Given the description of an element on the screen output the (x, y) to click on. 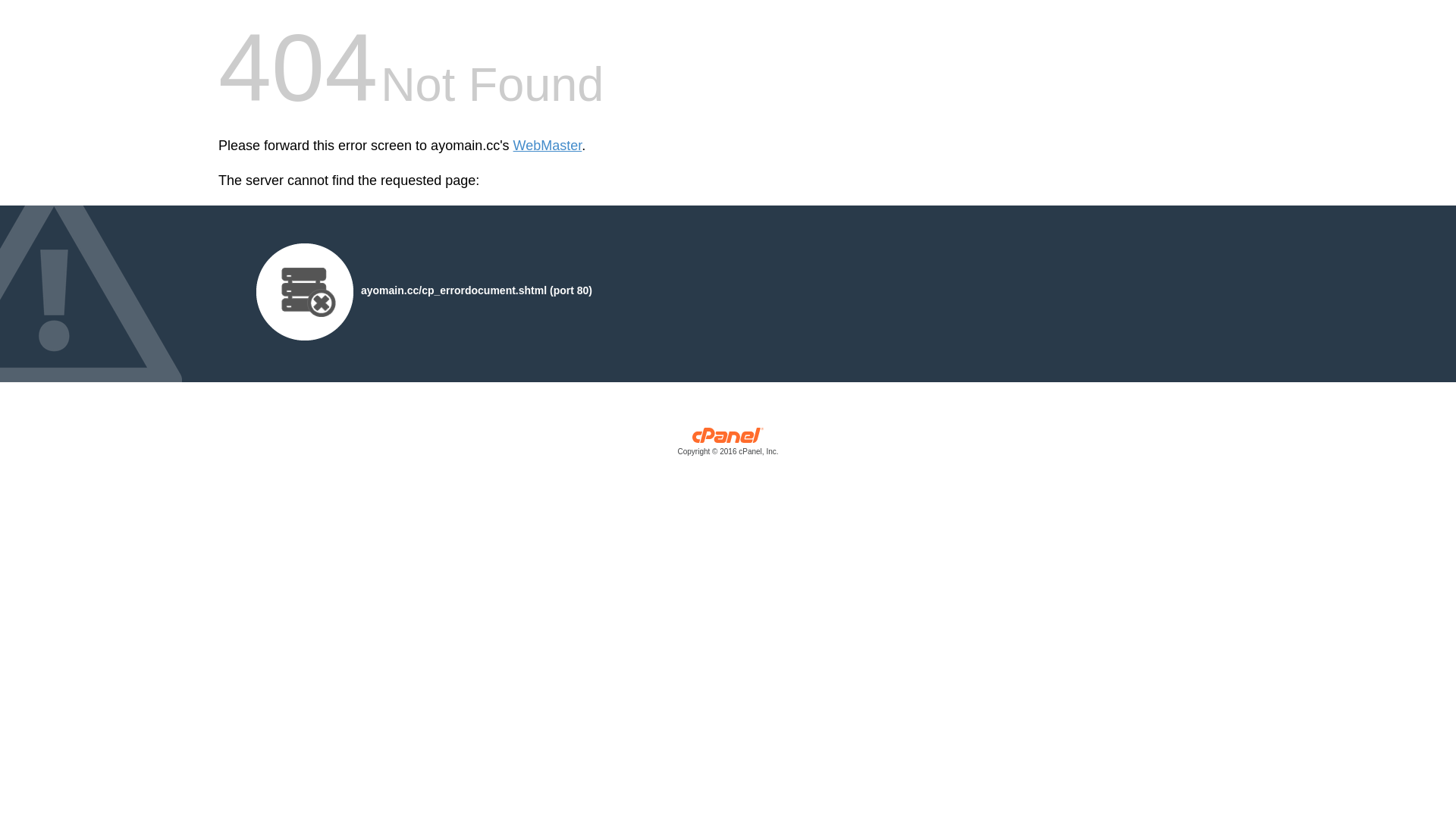
WebMaster Element type: text (547, 145)
